Given the description of an element on the screen output the (x, y) to click on. 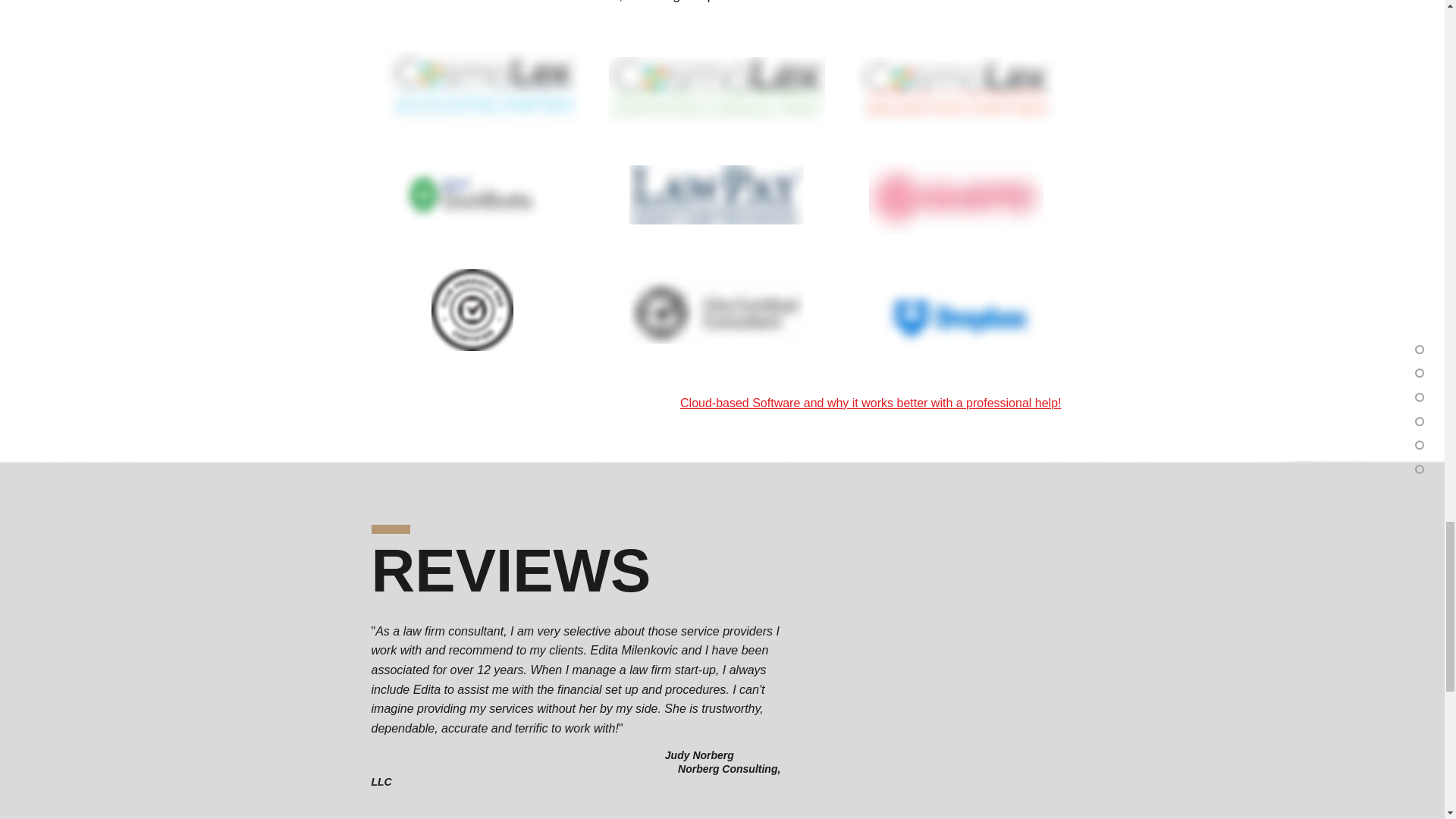
QuickBooks (470, 195)
Click for Free Trial (955, 89)
Click for Free Trial (482, 85)
Try 1 month free (471, 309)
Click for Free Trial (716, 89)
Try 1 month free (956, 193)
Dropbox (960, 316)
LawPay (715, 194)
Try 1 month free (715, 309)
